Given the description of an element on the screen output the (x, y) to click on. 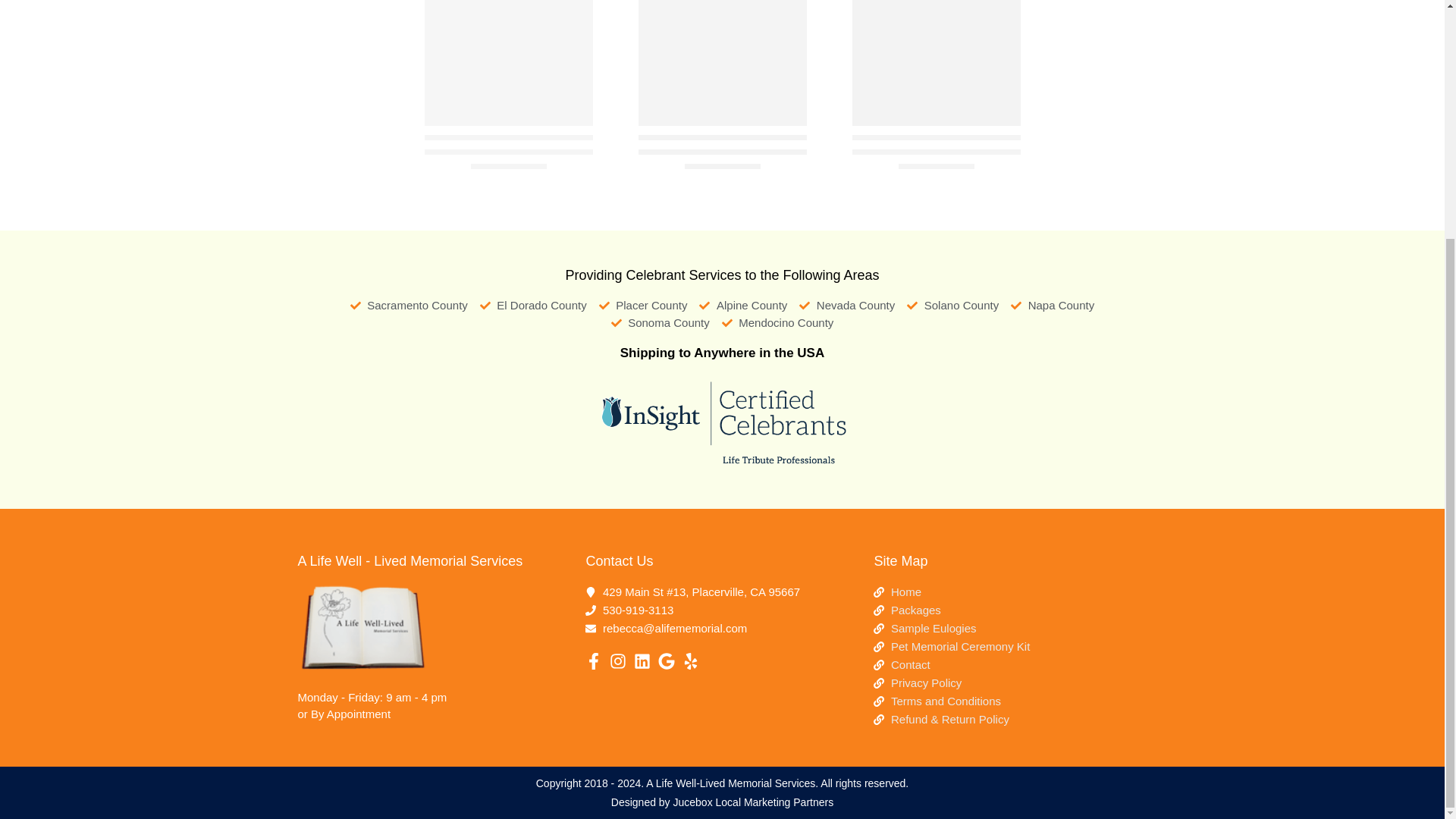
Contact (1010, 665)
Packages (1010, 610)
Sample Eulogies (1010, 628)
Terms and Conditions (1010, 701)
Privacy Policy (1010, 683)
Designed by Jucebox Local Marketing Partners (721, 802)
Pet Memorial Ceremony Kit (1010, 647)
Home (1010, 592)
530-919-3113 (722, 610)
